Given the description of an element on the screen output the (x, y) to click on. 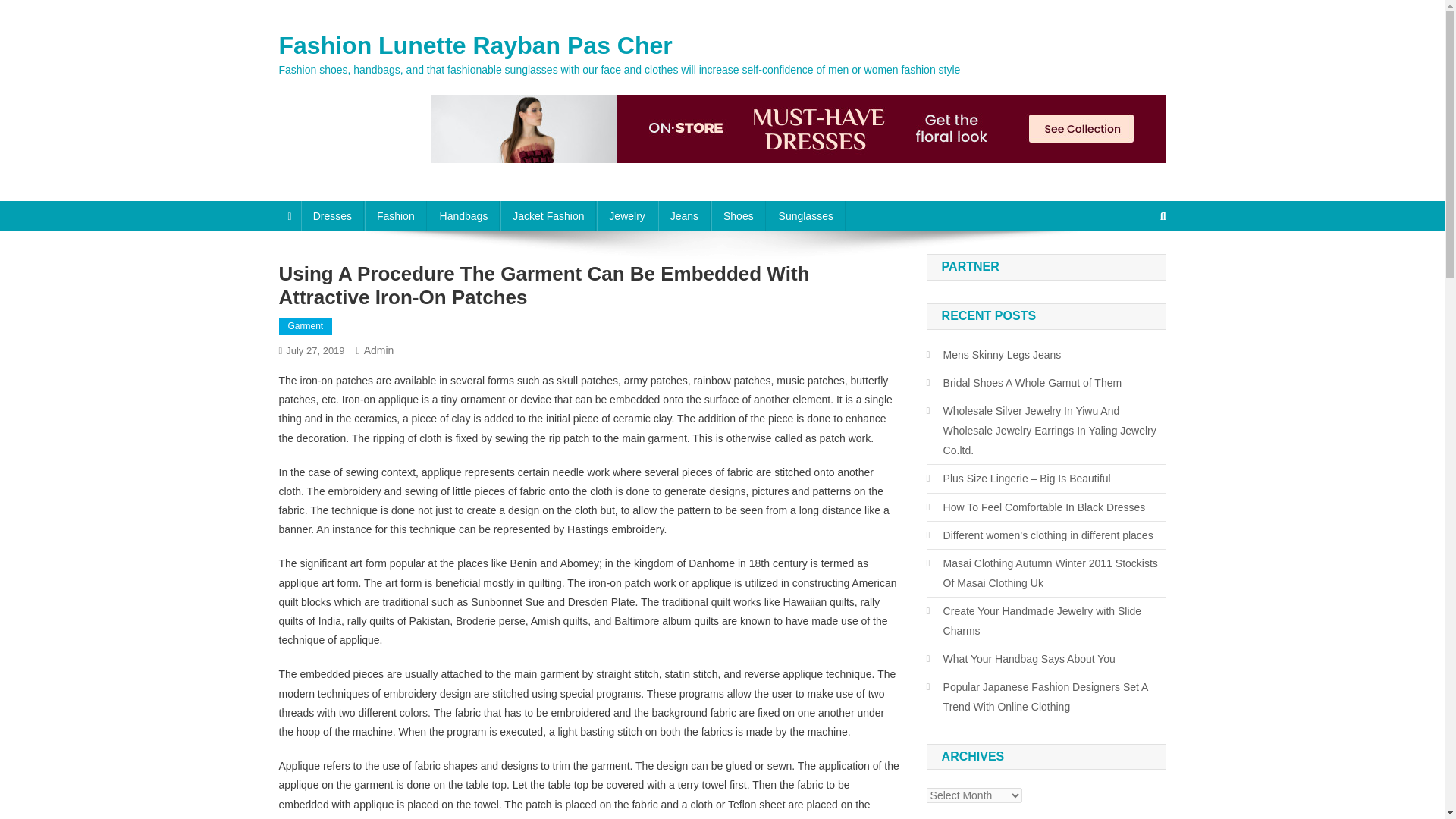
Jeans (684, 215)
Create Your Handmade Jewelry with Slide Charms (1046, 620)
Sunglasses (806, 215)
Fashion Lunette Rayban Pas Cher (475, 44)
Jewelry (626, 215)
Skip to content (34, 9)
Shoes (738, 215)
How To Feel Comfortable In Black Dresses (1035, 506)
Jacket Fashion (547, 215)
